Given the description of an element on the screen output the (x, y) to click on. 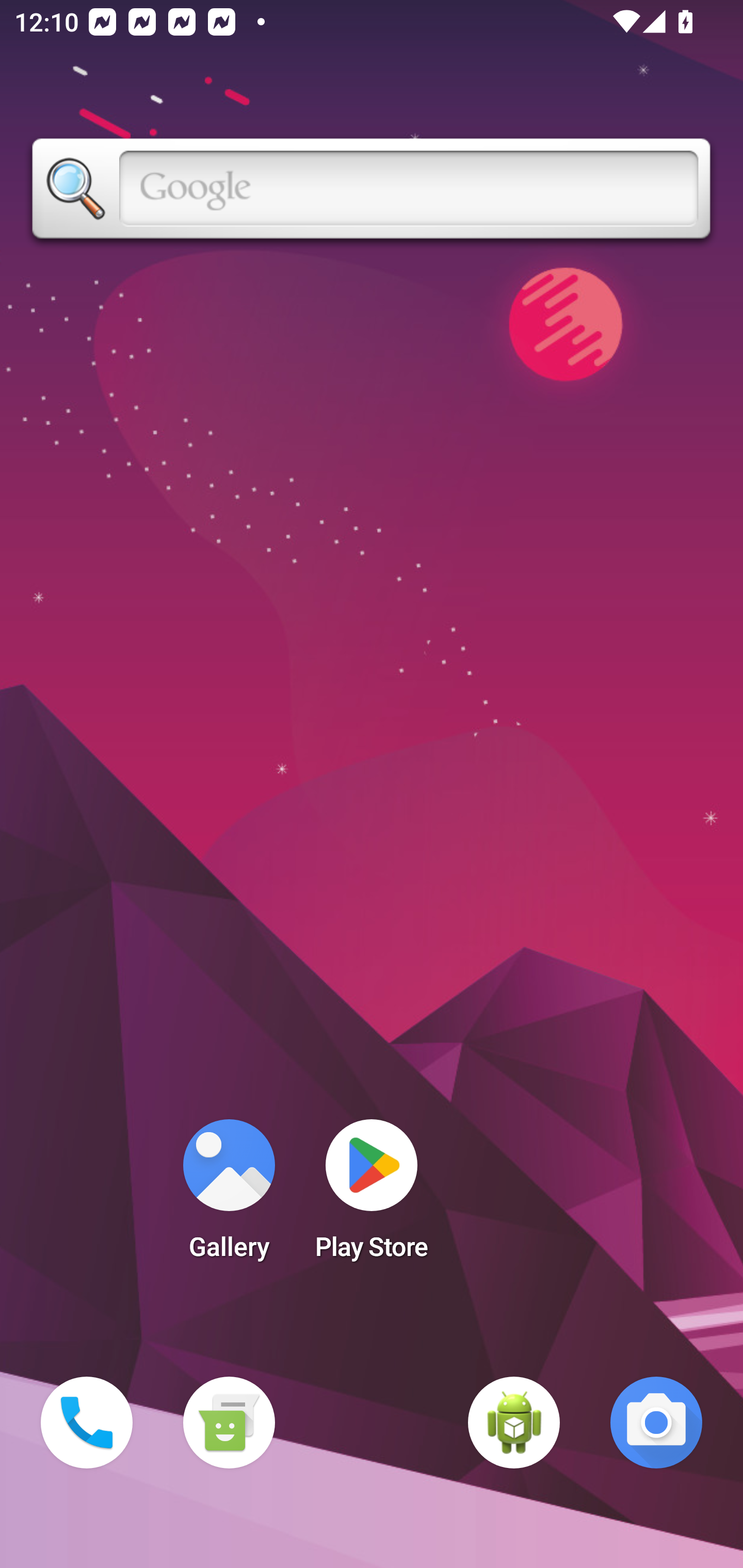
Gallery (228, 1195)
Play Store (371, 1195)
Phone (86, 1422)
Messaging (228, 1422)
WebView Browser Tester (513, 1422)
Camera (656, 1422)
